Given the description of an element on the screen output the (x, y) to click on. 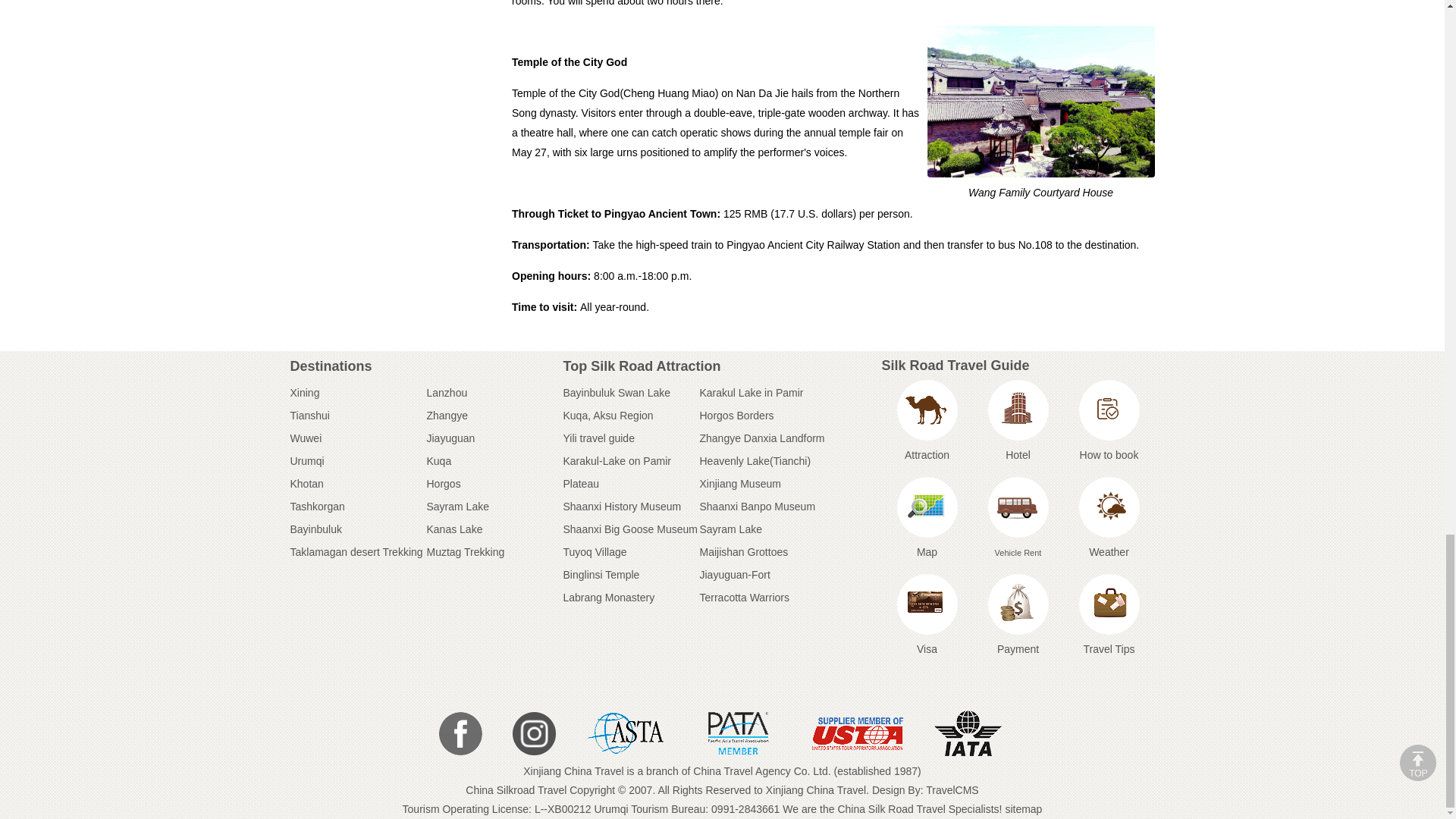
wang-1.jpg (1040, 101)
